Given the description of an element on the screen output the (x, y) to click on. 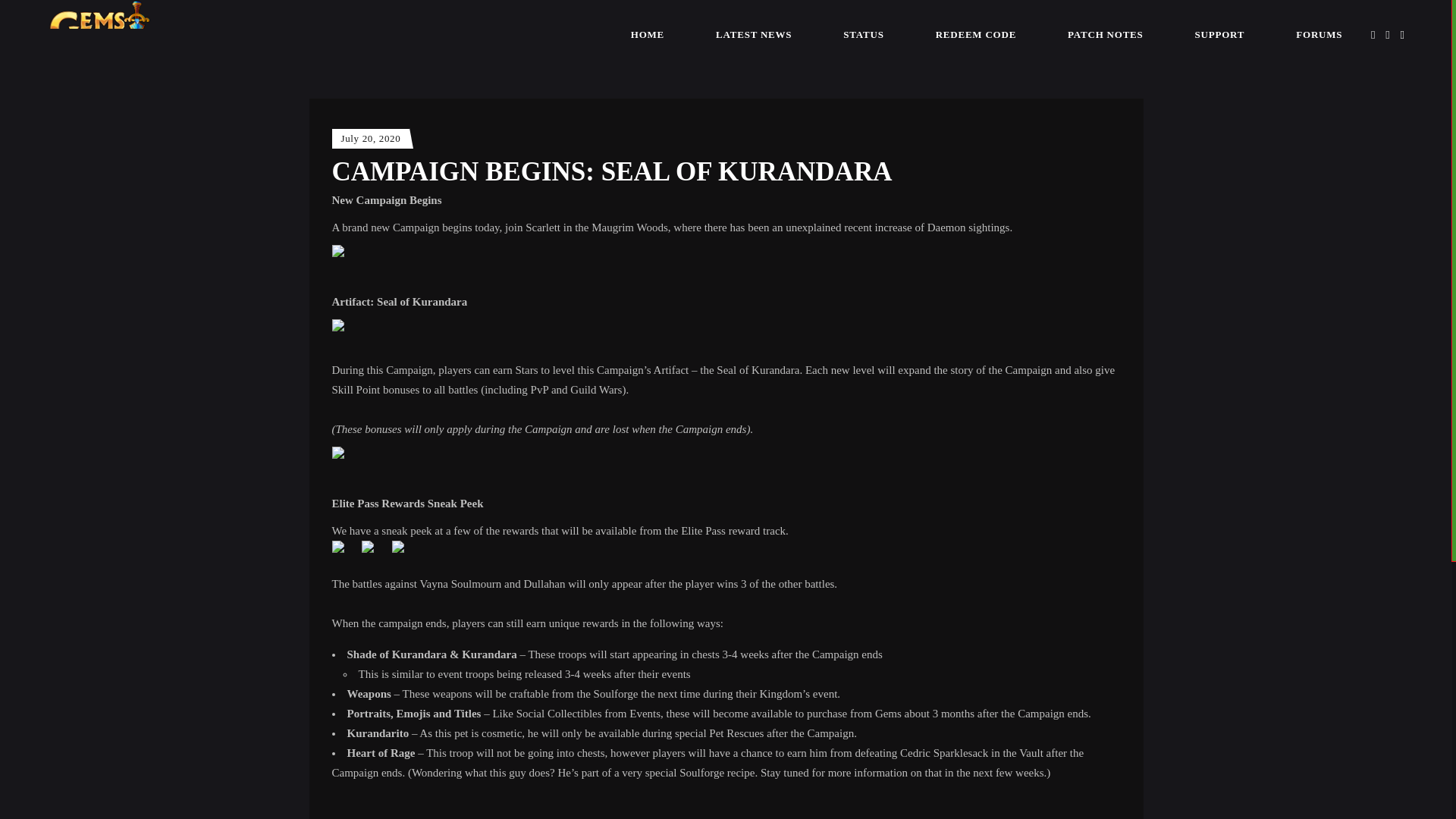
FORUMS (1318, 33)
STATUS (863, 33)
July 20, 2020 (370, 138)
REDEEM CODE (975, 33)
HOME (647, 33)
LATEST NEWS (753, 33)
PATCH NOTES (1105, 33)
SUPPORT (1220, 33)
